Given the description of an element on the screen output the (x, y) to click on. 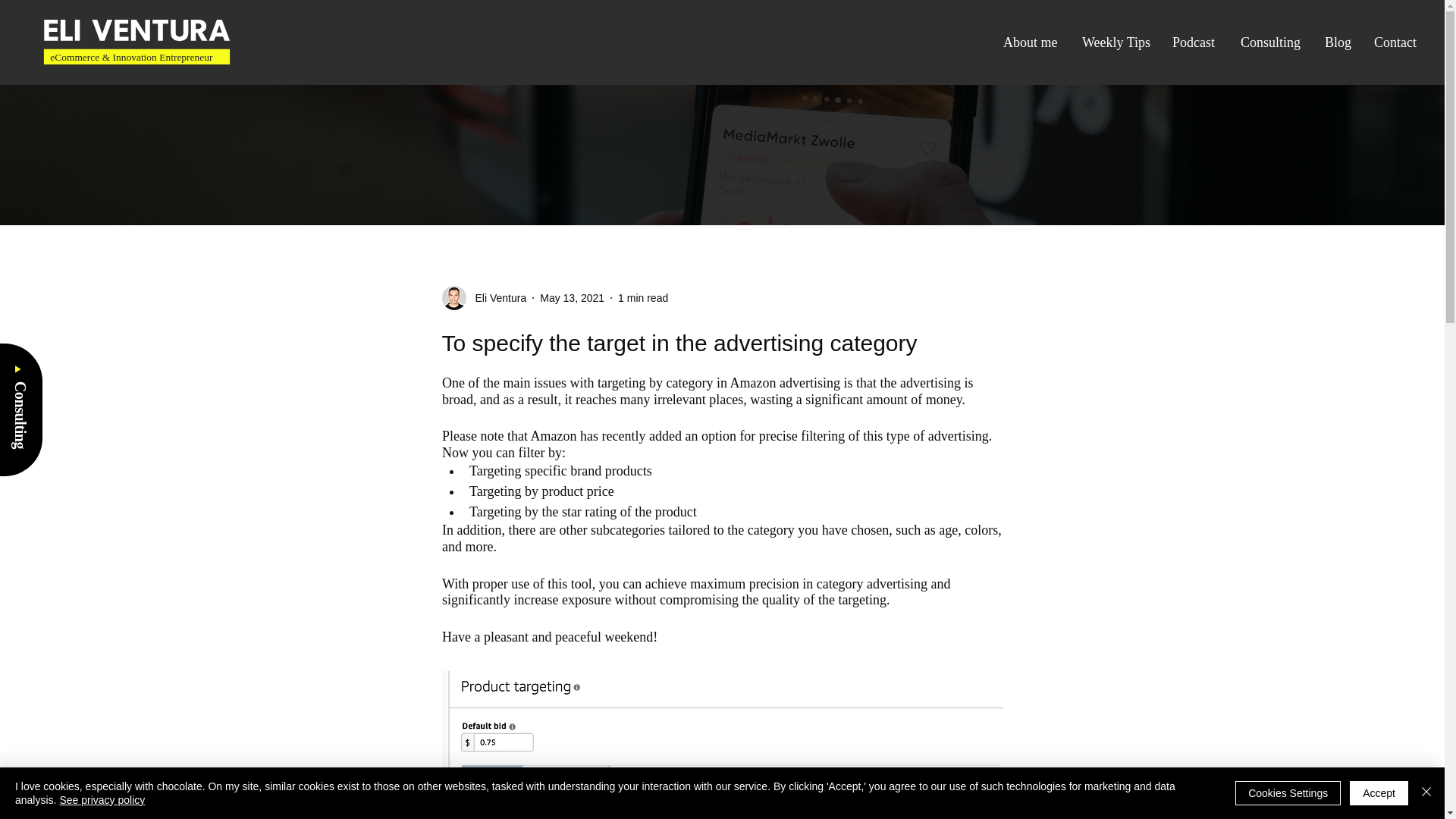
Consulting (1270, 42)
Eli Ventura (483, 297)
Cookies Settings (1287, 793)
May 13, 2021 (572, 297)
Consulting (45, 388)
Eli Ventura (495, 297)
See privacy policy (101, 799)
Blog (1337, 42)
Accept (1378, 793)
Podcast (1194, 42)
1 min read (642, 297)
Contact (1395, 42)
About me (1030, 42)
Weekly Tips (1115, 42)
